Given the description of an element on the screen output the (x, y) to click on. 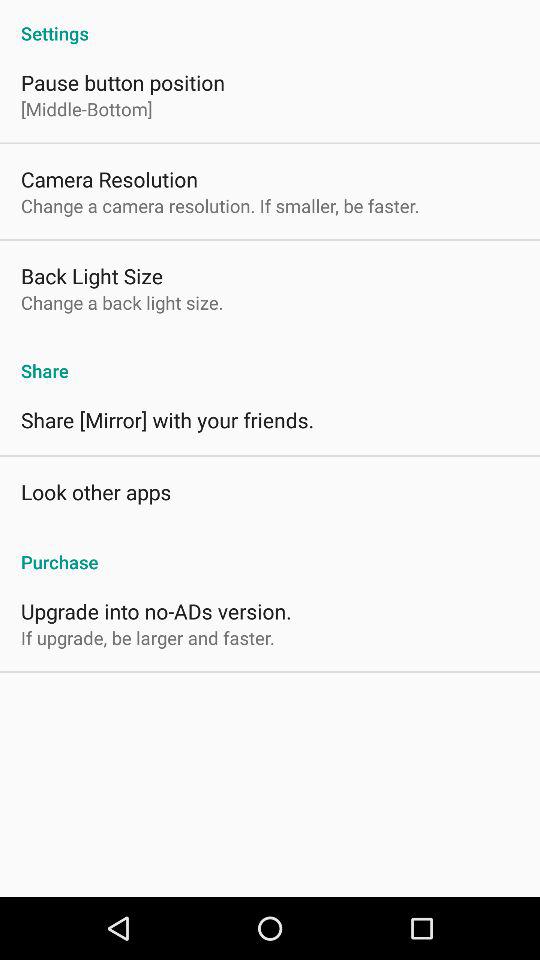
turn off the icon below the pause button position (86, 108)
